Given the description of an element on the screen output the (x, y) to click on. 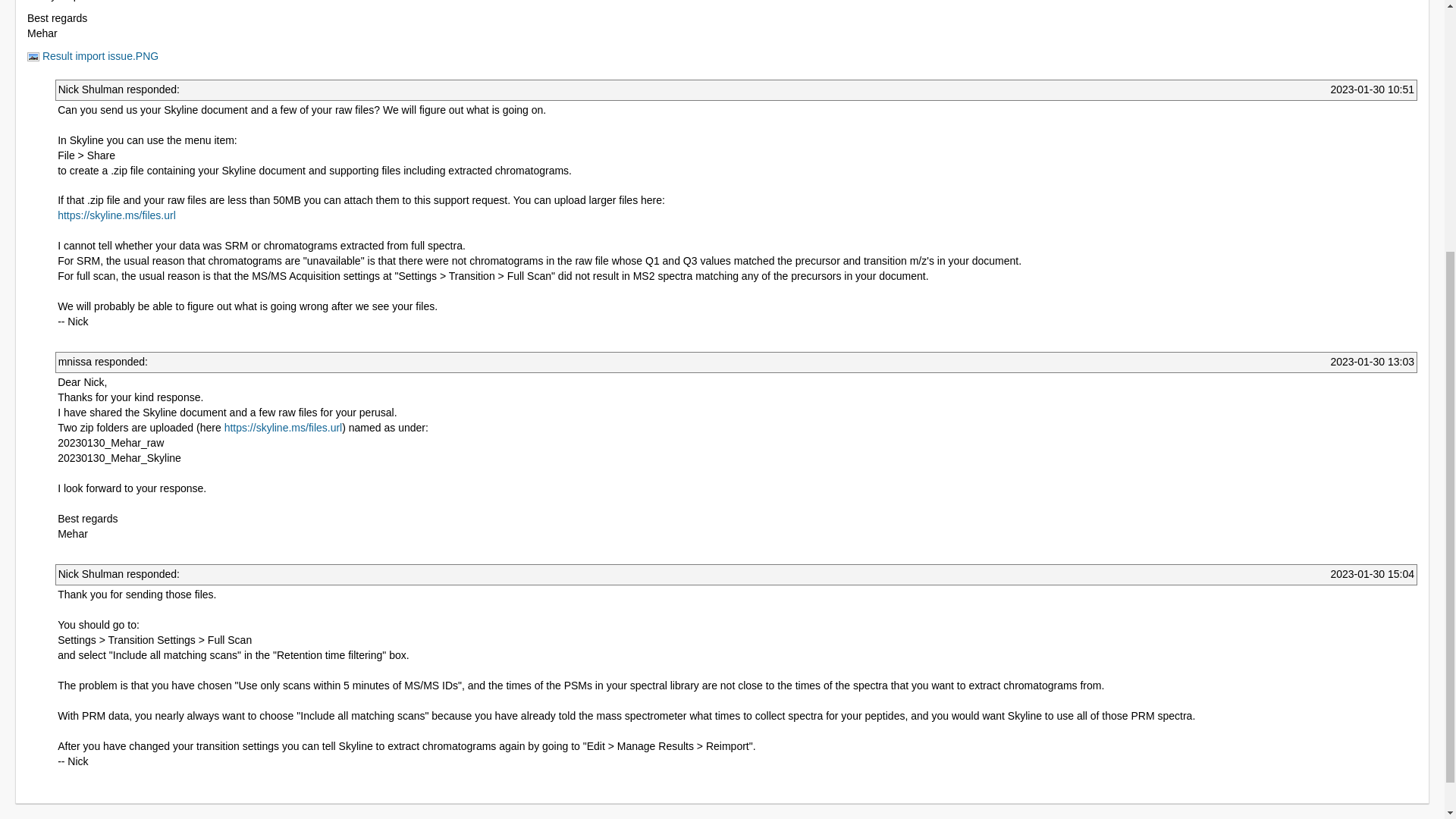
 Result import issue.PNG (92, 55)
